Given the description of an element on the screen output the (x, y) to click on. 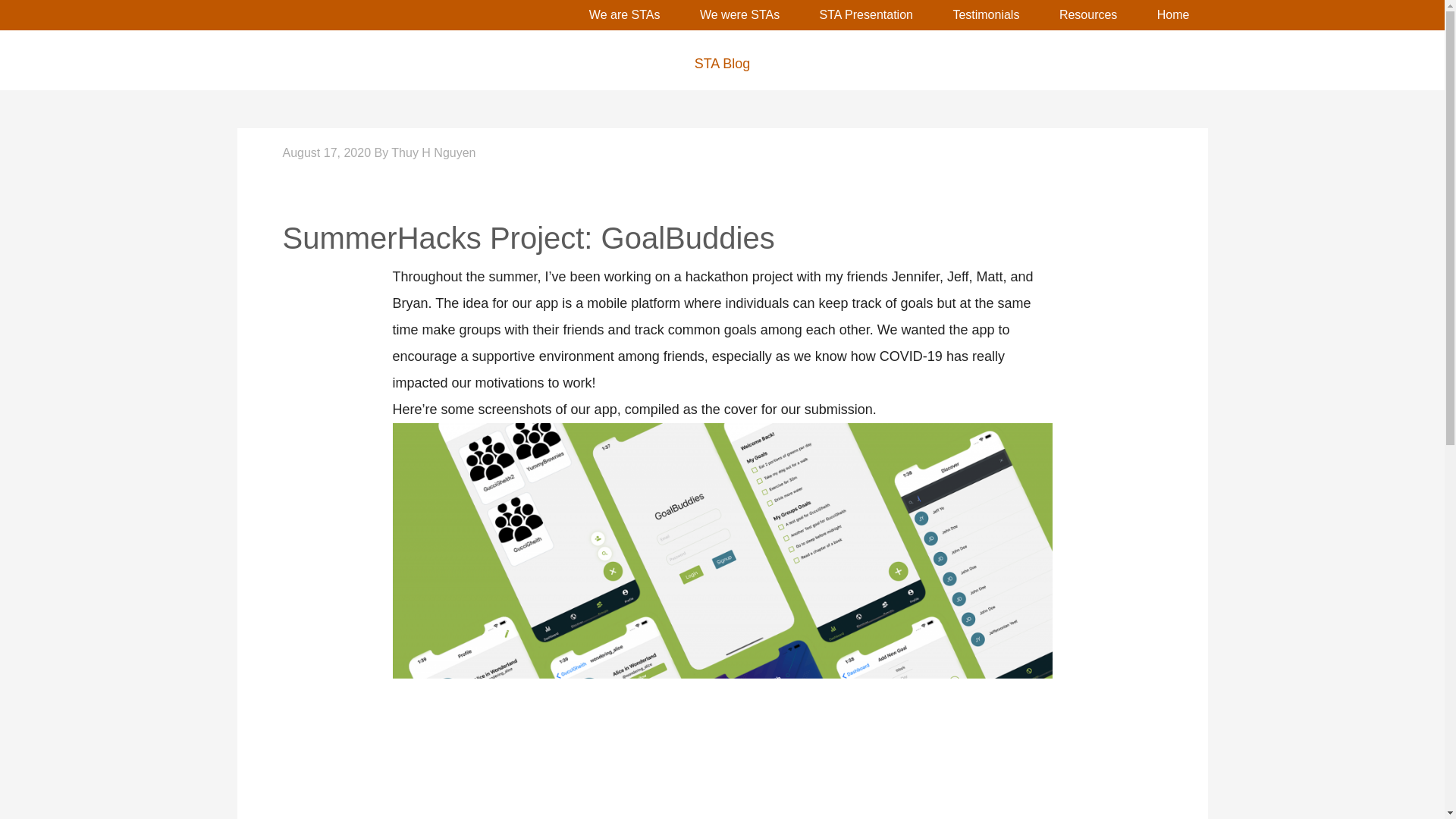
STA Presentation (866, 15)
Resources (1088, 15)
We were STAs (739, 15)
STA Blog (721, 64)
Thuy H Nguyen (433, 152)
Home (1173, 15)
Testimonials (985, 15)
We are STAs (624, 15)
